Given the description of an element on the screen output the (x, y) to click on. 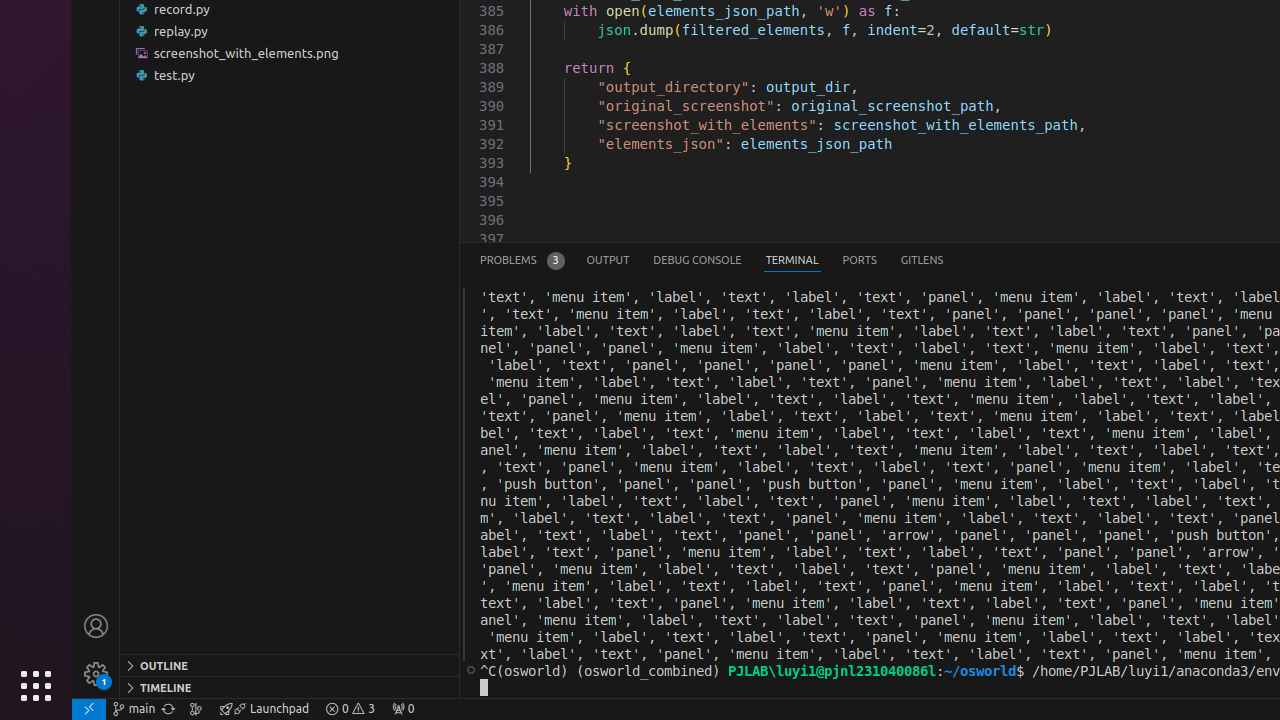
Output (Ctrl+K Ctrl+H) Element type: page-tab (608, 260)
test.py Element type: tree-item (289, 75)
replay.py Element type: tree-item (289, 31)
OSWorld (Git) - Synchronize Changes Element type: push-button (168, 709)
